Given the description of an element on the screen output the (x, y) to click on. 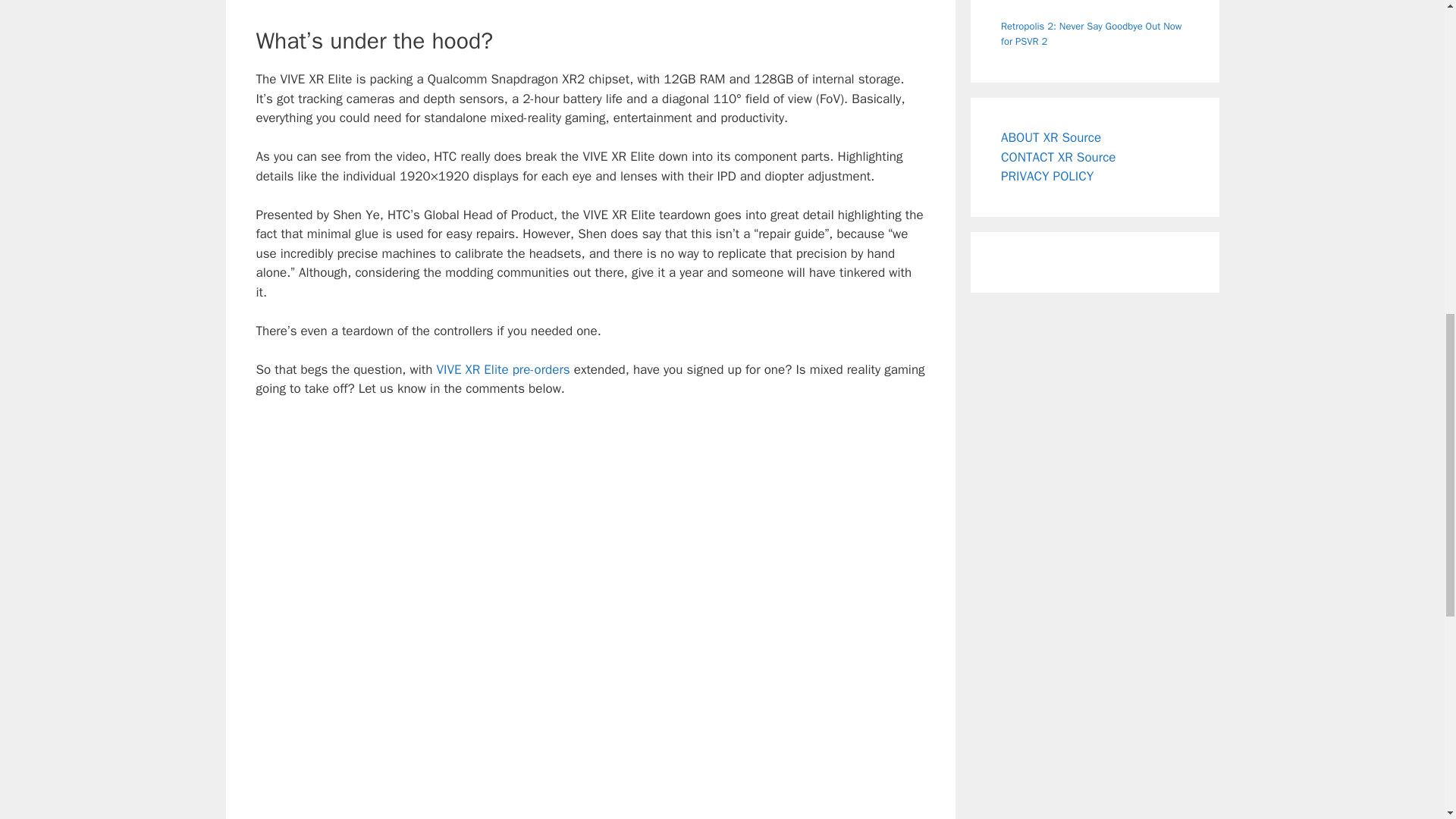
VIVE XR Elite pre-orders (502, 369)
ABOUT XR Source (1050, 137)
Retropolis 2: Never Say Goodbye Out Now for PSVR 2 (1090, 33)
PRIVACY POLICY (1047, 176)
CONTACT XR Source (1058, 157)
